Given the description of an element on the screen output the (x, y) to click on. 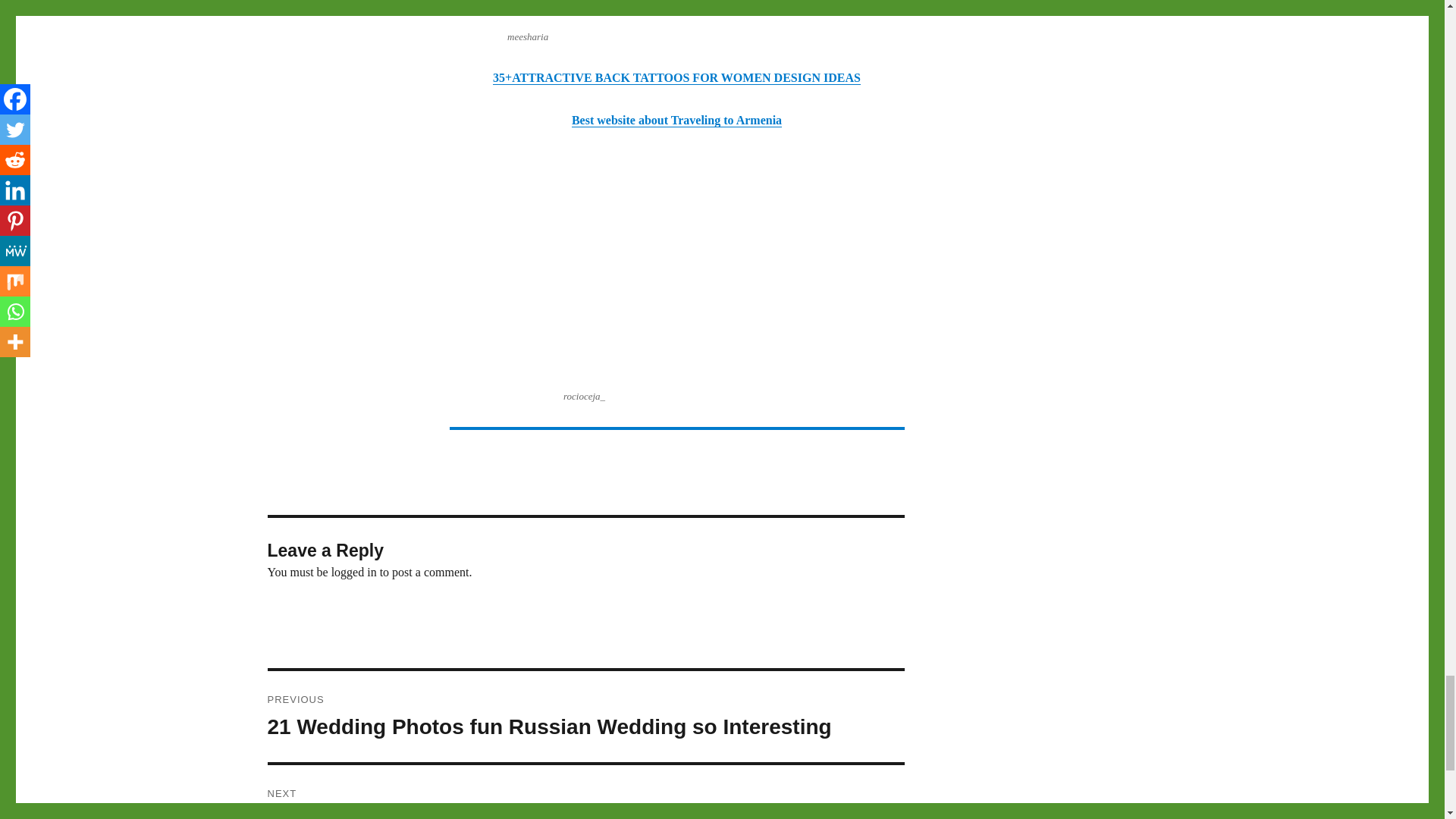
Best website about Traveling to Armenia (676, 119)
